Given the description of an element on the screen output the (x, y) to click on. 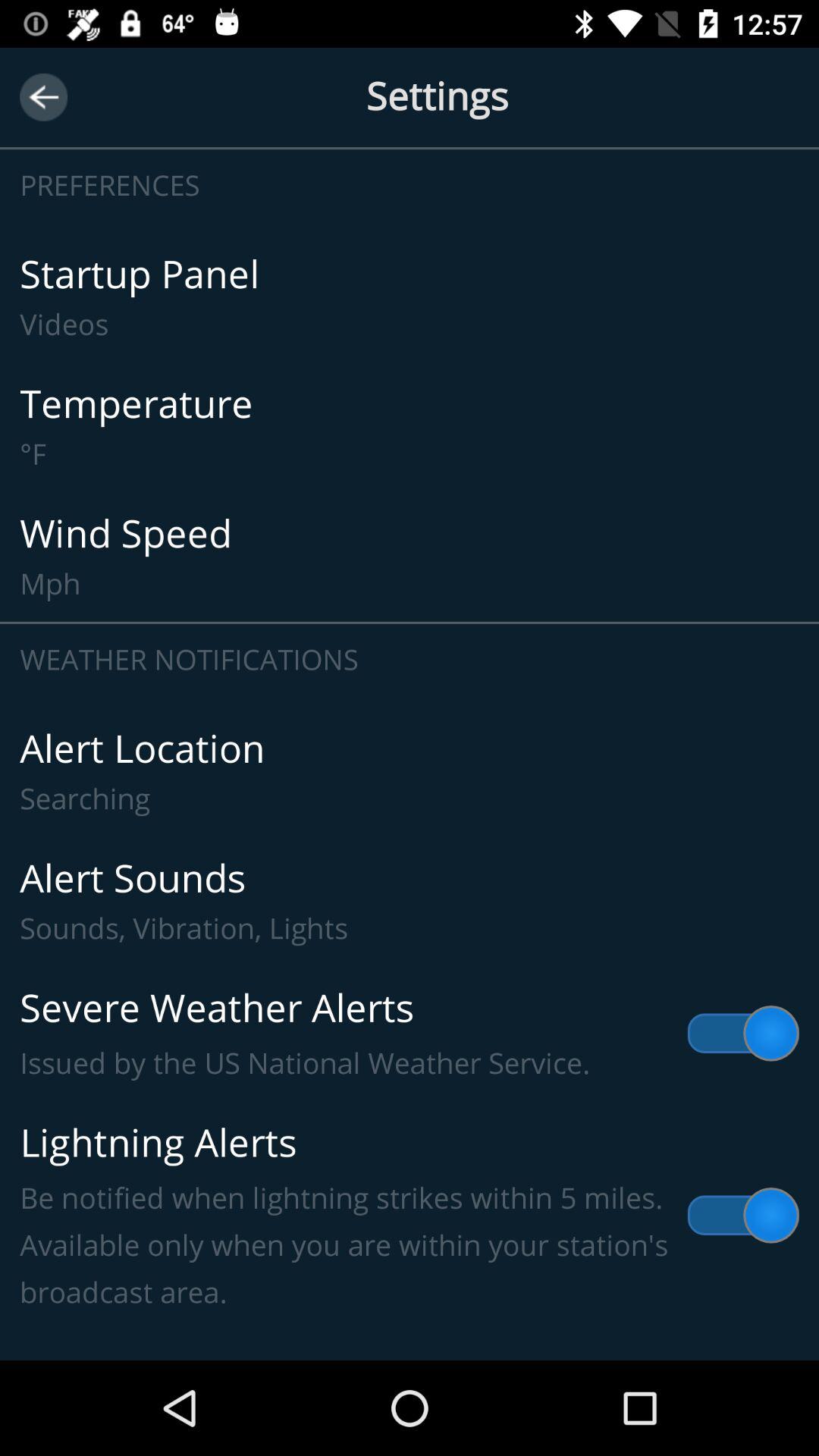
setting option (409, 97)
